Given the description of an element on the screen output the (x, y) to click on. 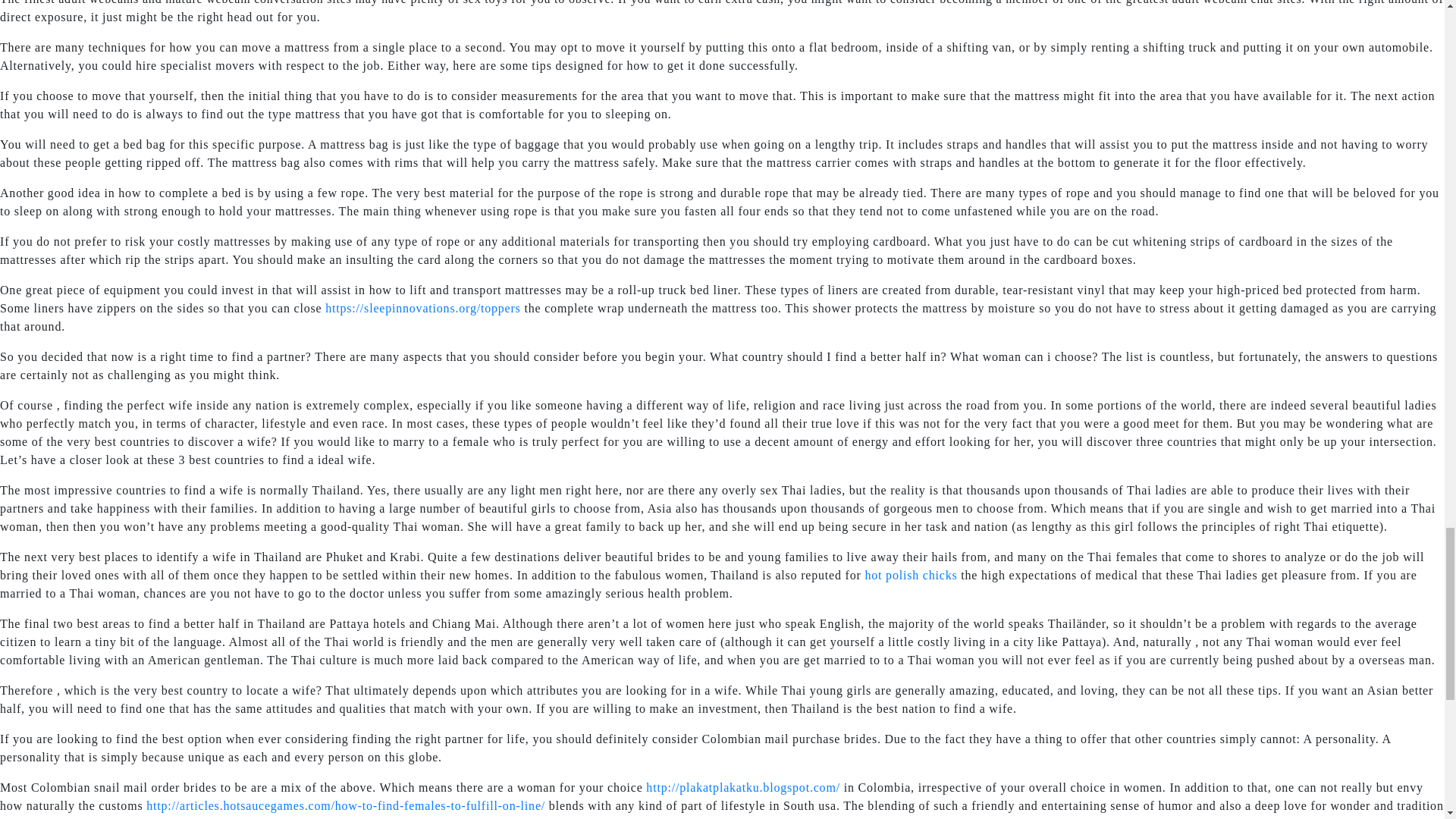
hot polish chicks (910, 574)
